Given the description of an element on the screen output the (x, y) to click on. 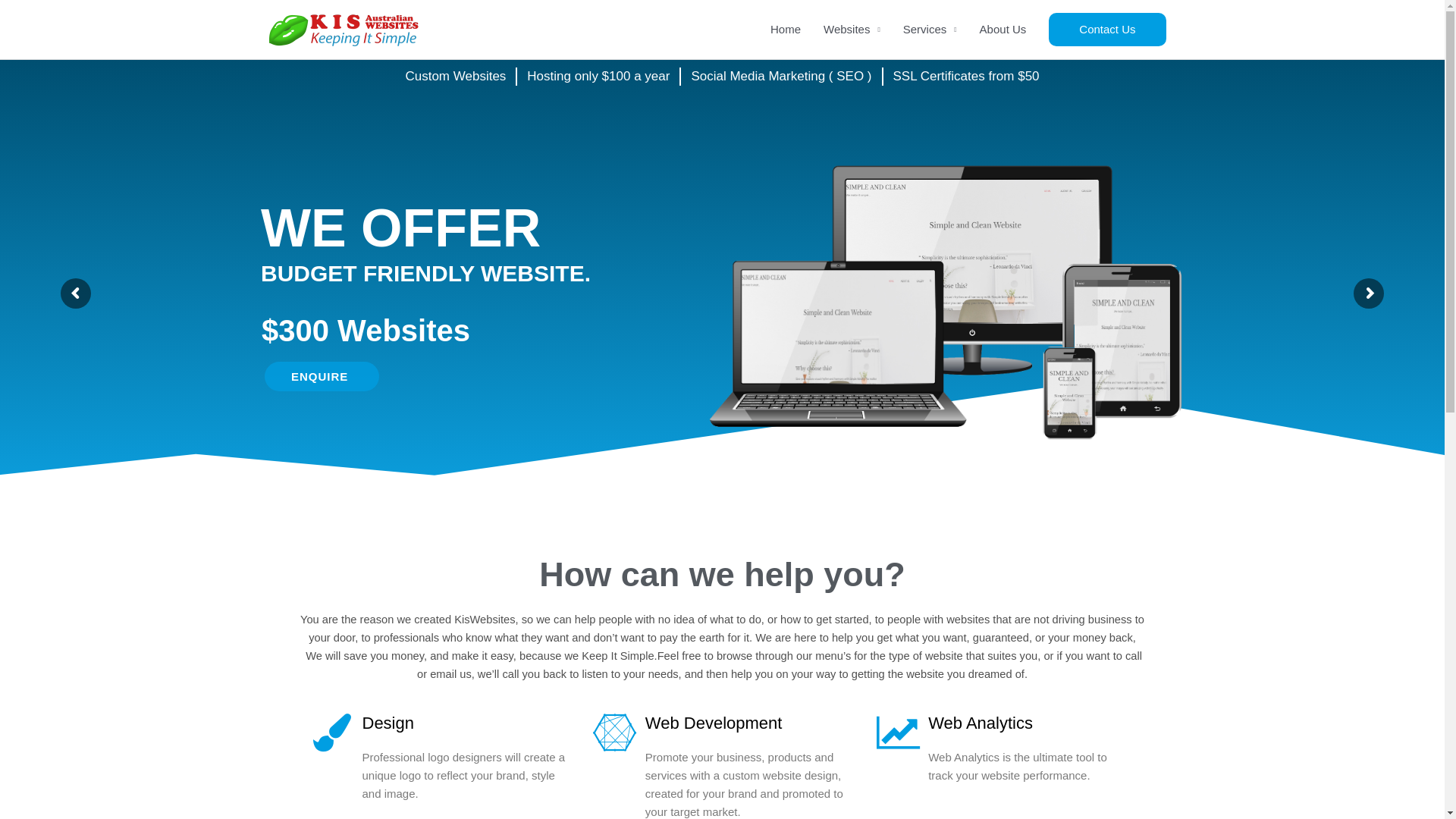
Contact Us Element type: text (1106, 29)
SSL Certificates from $50 Element type: text (966, 76)
Websites Element type: text (851, 29)
Home Element type: text (785, 29)
Custom Websites Element type: text (454, 76)
About Us Element type: text (1003, 29)
Hosting only $100 a year Element type: text (598, 76)
Social Media Marketing ( SEO ) Element type: text (780, 76)
Web Analytics Element type: text (980, 722)
Design Element type: text (388, 722)
Services Element type: text (929, 29)
ENQUIRE Element type: text (321, 376)
Web Development Element type: text (713, 722)
